Given the description of an element on the screen output the (x, y) to click on. 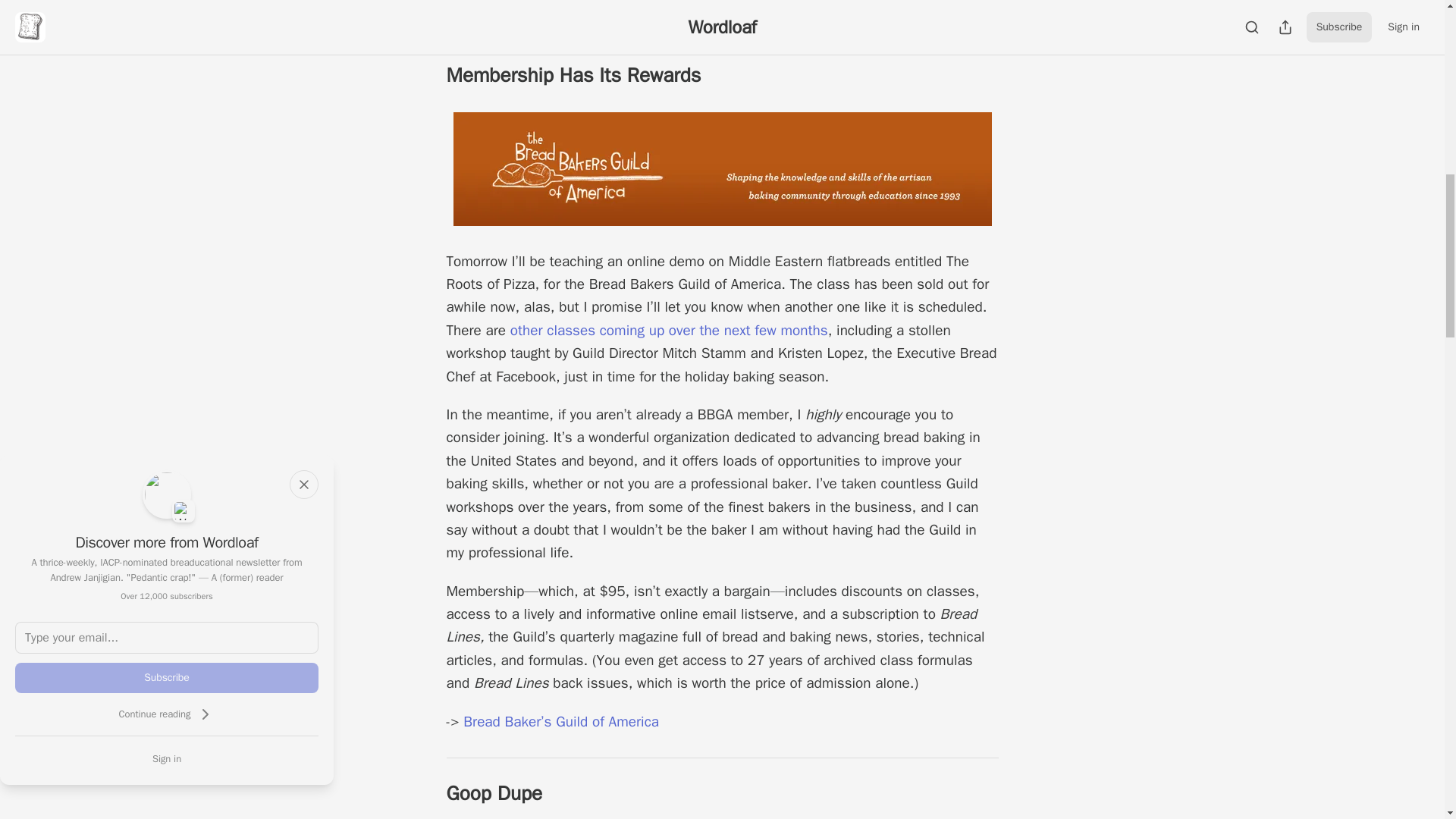
Sign in (166, 758)
Business Insider: The Best Pizza Stones (590, 6)
other classes coming up over the next few months (669, 330)
Subscribe (166, 677)
